Given the description of an element on the screen output the (x, y) to click on. 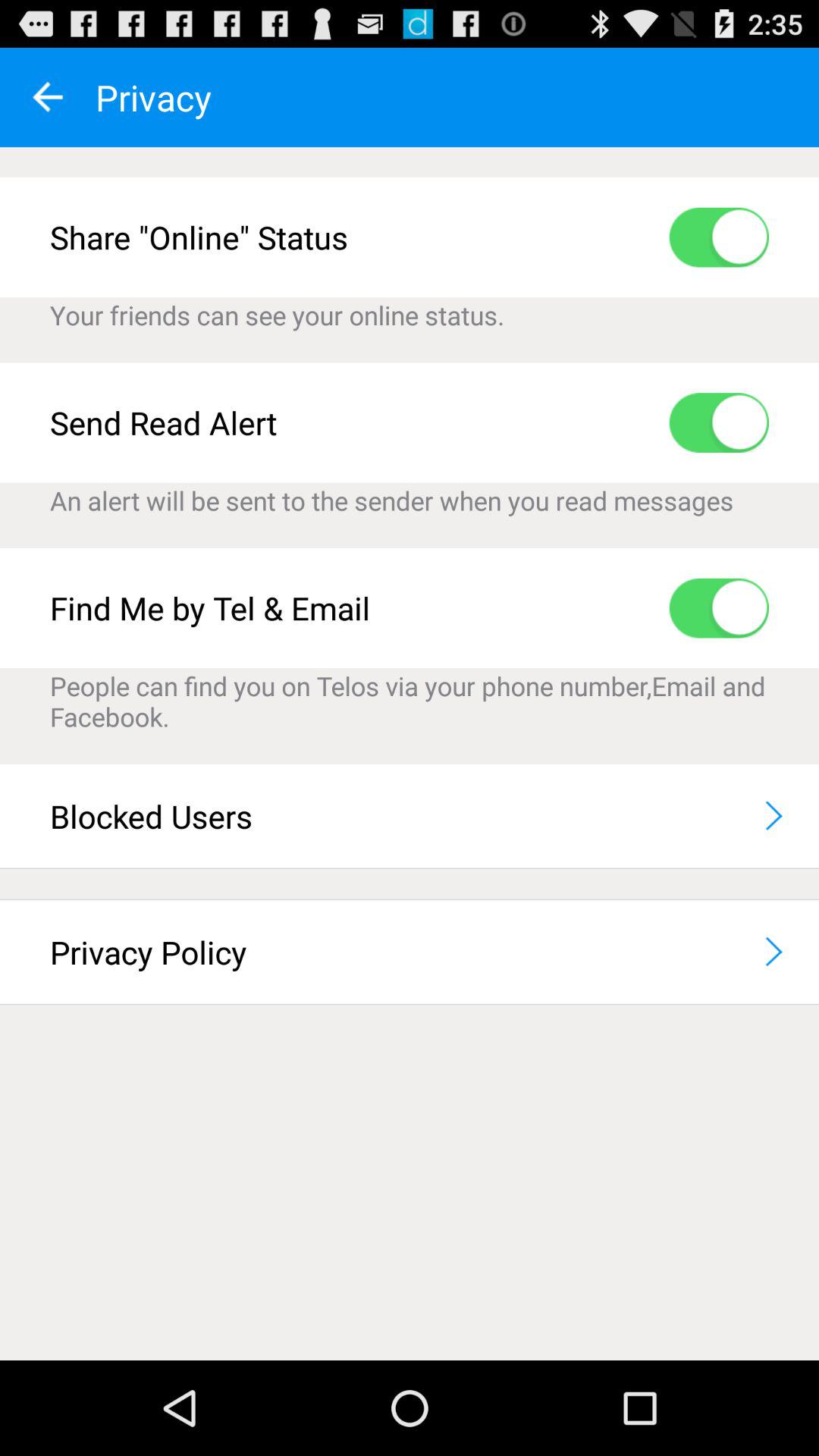
click the arrow head which is placed right side of the blocked users (773, 815)
